Given the description of an element on the screen output the (x, y) to click on. 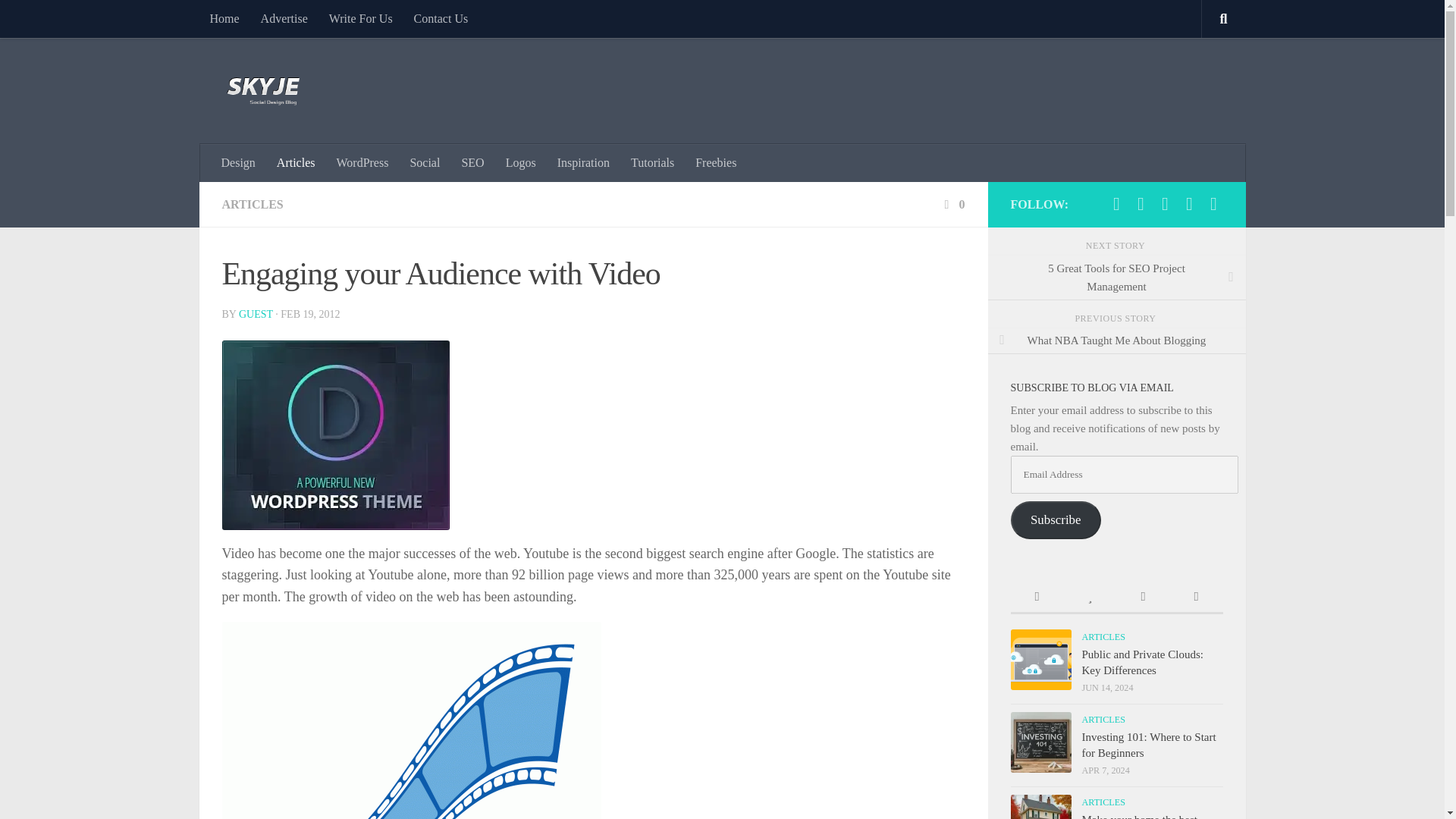
Inspiration (583, 162)
0 (951, 204)
Write For Us (360, 18)
Social (423, 162)
SEO (472, 162)
Design (238, 162)
Skip to content (59, 20)
WordPress (361, 162)
Logos (521, 162)
Home (223, 18)
ARTICLES (251, 204)
Articles (296, 162)
video (410, 720)
Freebies (715, 162)
Tutorials (652, 162)
